Given the description of an element on the screen output the (x, y) to click on. 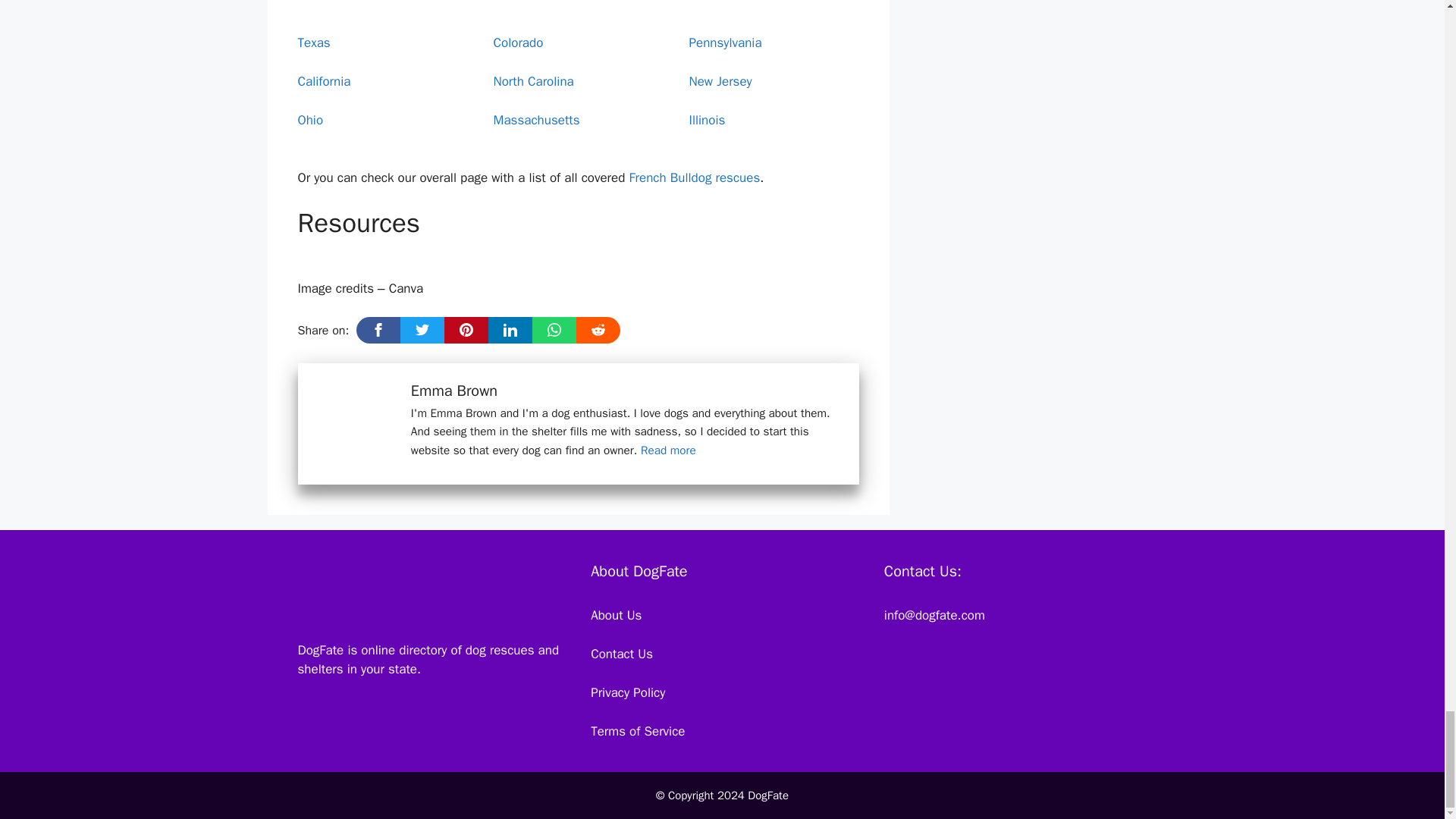
New Jersey (719, 81)
California (323, 81)
French Bulldog rescues (694, 177)
Pennsylvania (724, 42)
Massachusetts (536, 119)
Texas (313, 42)
Illinois (706, 119)
Colorado (518, 42)
 Read more (667, 450)
North Carolina (533, 81)
Ohio (310, 119)
